Given the description of an element on the screen output the (x, y) to click on. 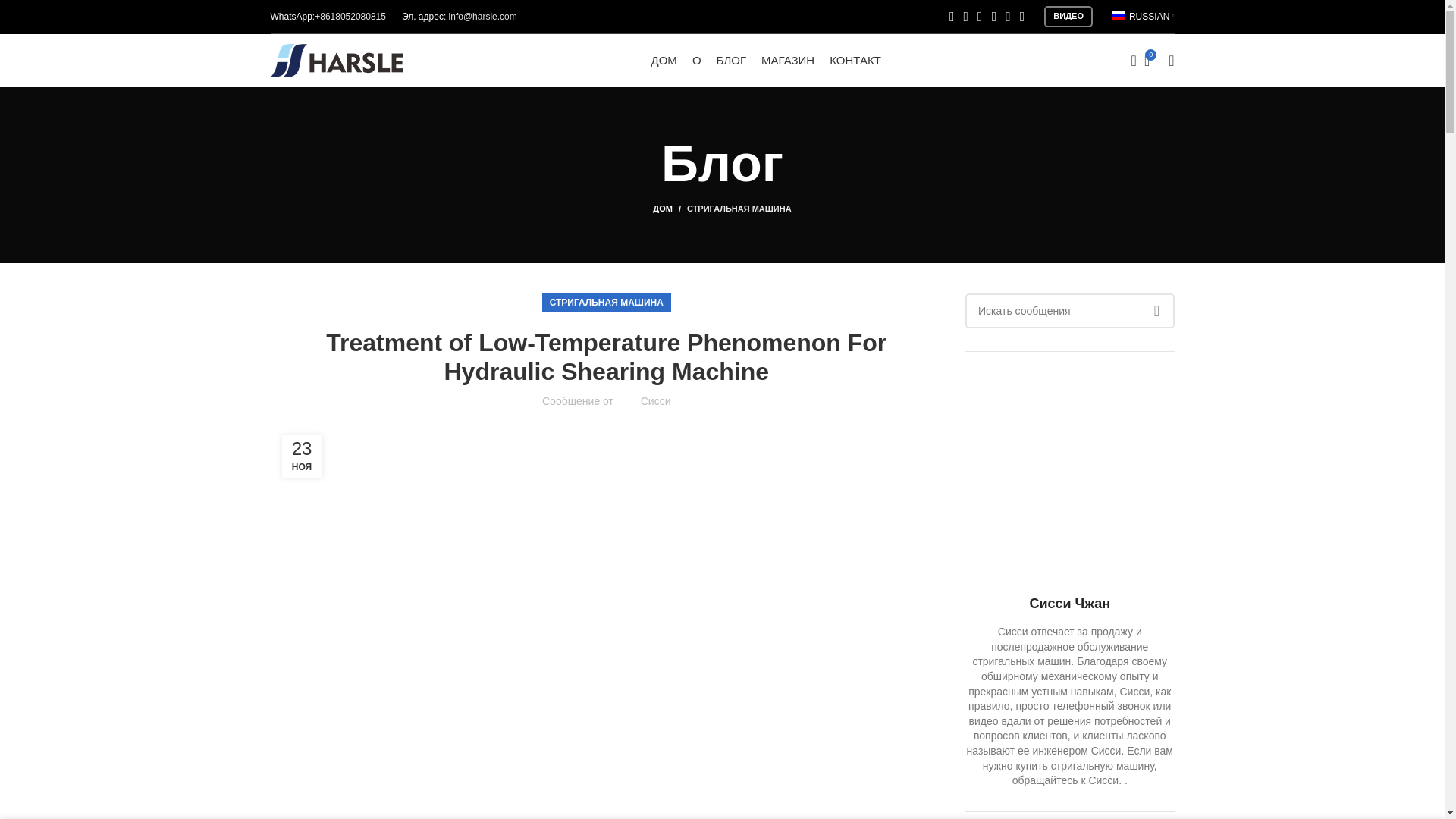
RUSSIAN (1141, 16)
Russian (1118, 15)
Log in (1049, 301)
